Given the description of an element on the screen output the (x, y) to click on. 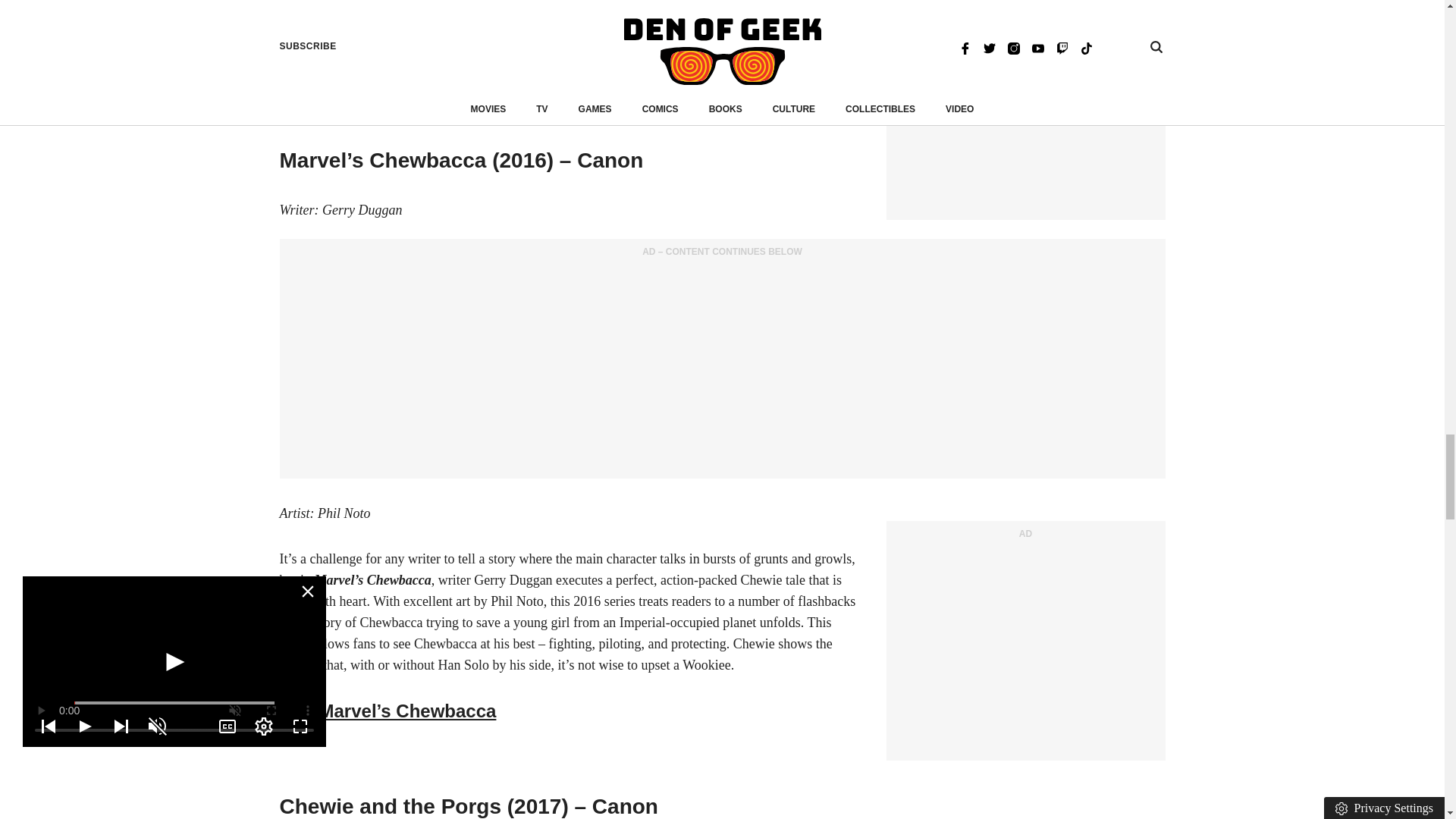
Buy Chewbacca and the Slavers of the Shadowlands (507, 64)
